Given the description of an element on the screen output the (x, y) to click on. 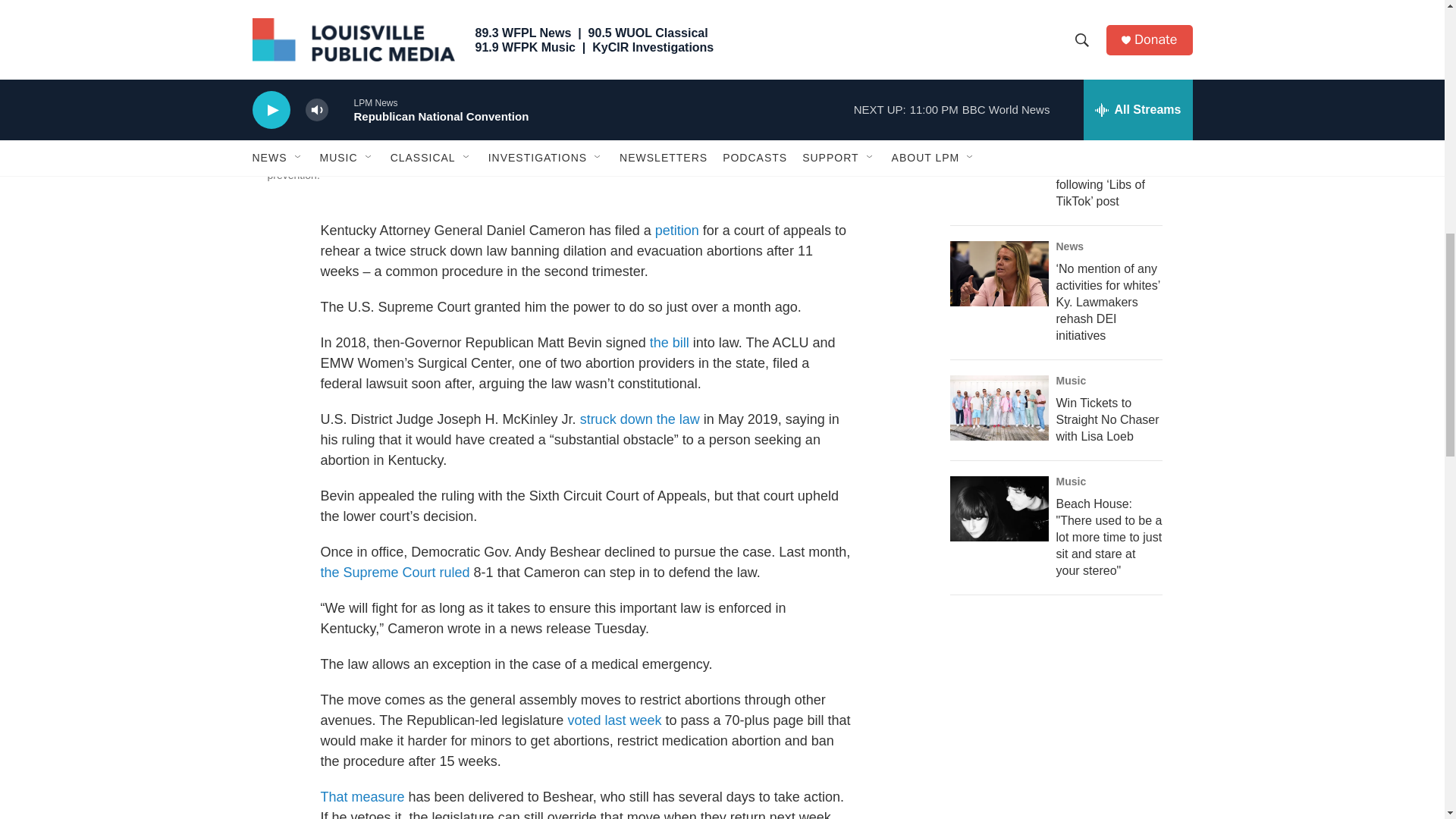
3rd party ad content (1062, 2)
3rd party ad content (1062, 719)
